Given the description of an element on the screen output the (x, y) to click on. 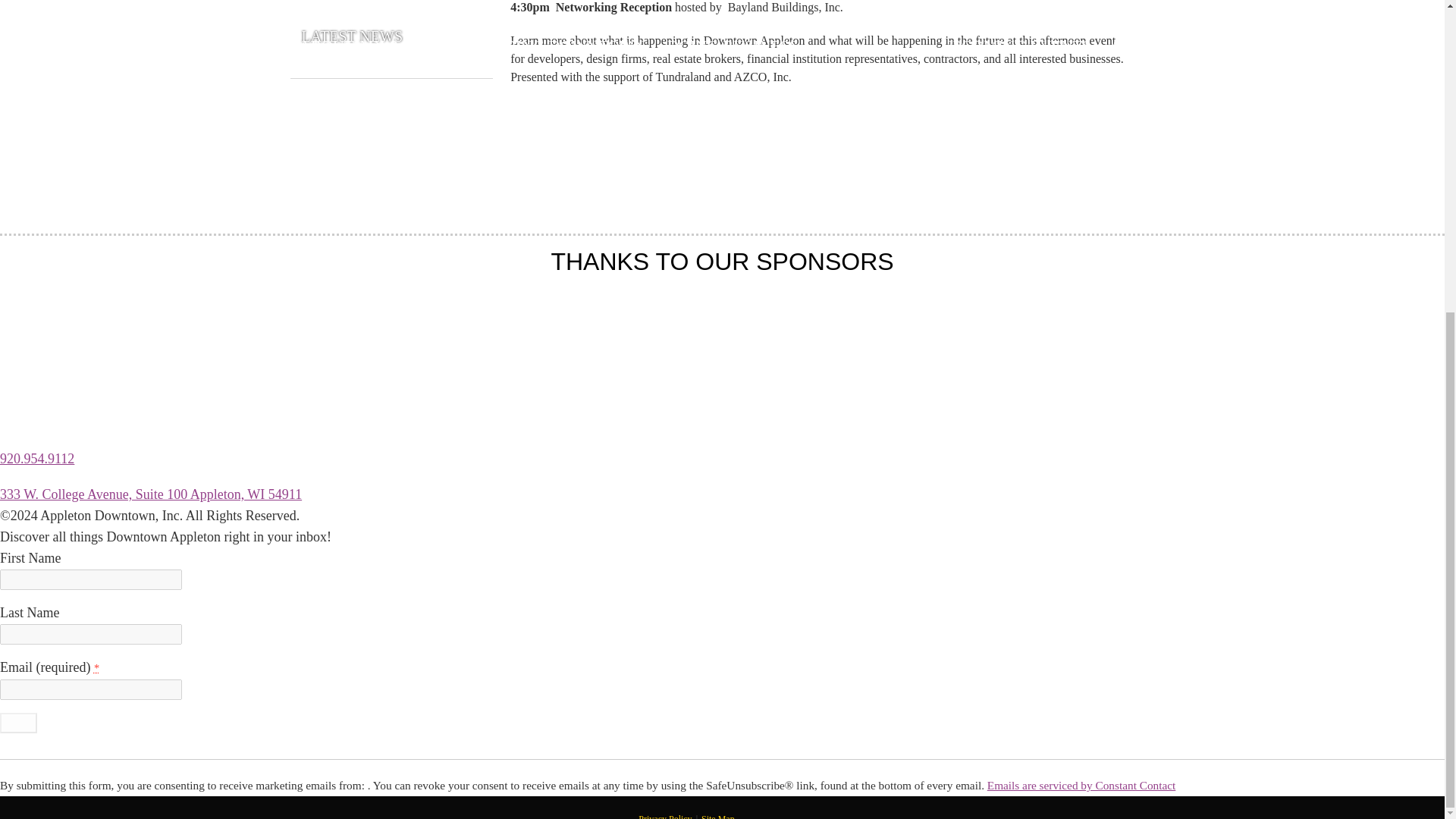
GO! (18, 722)
